Given the description of an element on the screen output the (x, y) to click on. 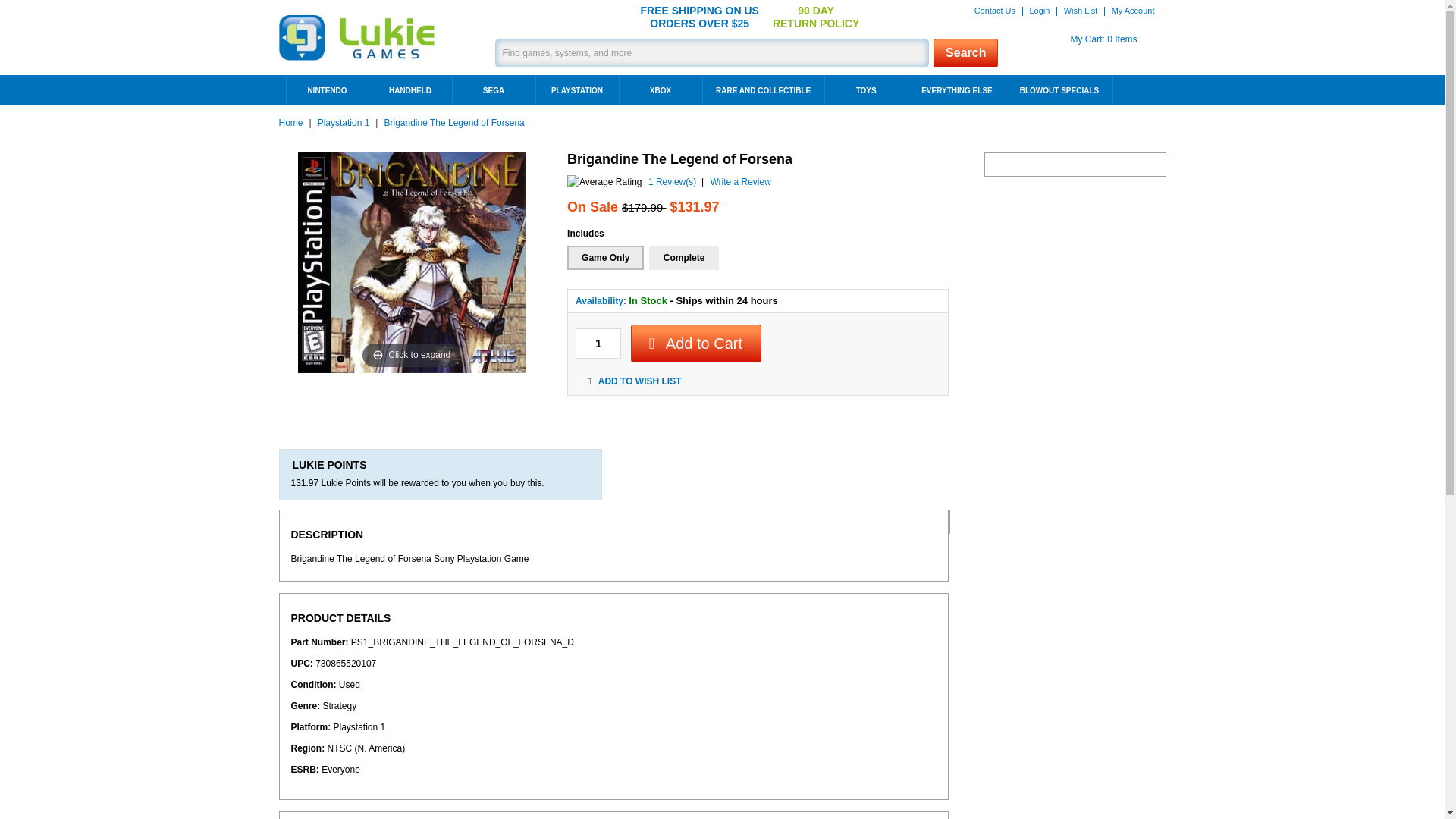
My Account (1133, 10)
Complete (684, 257)
HANDHELD (409, 90)
1 (598, 343)
Contact Us (1000, 10)
Game Only (605, 257)
Wish List (1086, 39)
Login (1086, 10)
Search (1045, 10)
